Given the description of an element on the screen output the (x, y) to click on. 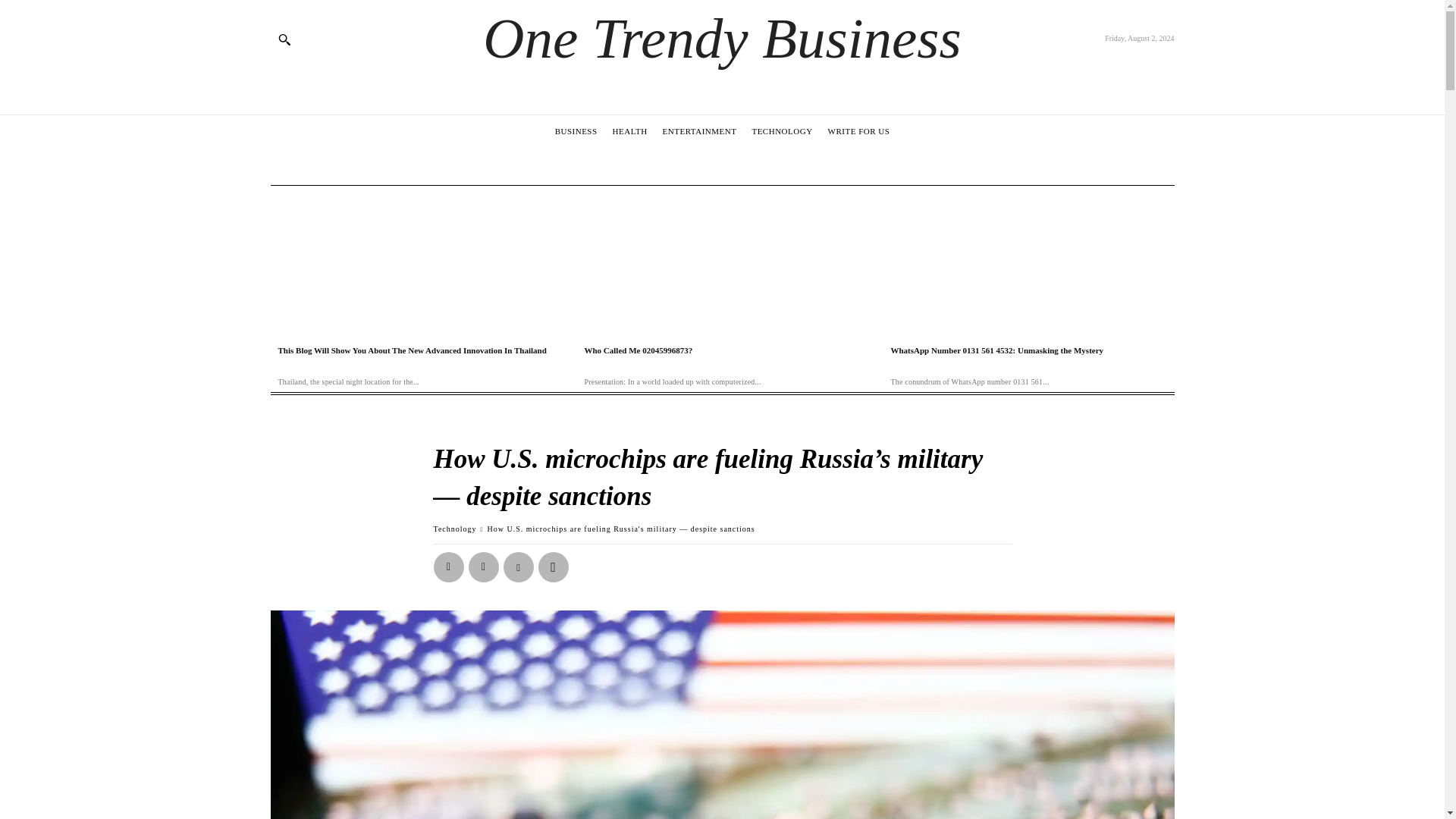
View all posts in Technology (455, 528)
BUSINESS (576, 131)
WhatsApp (553, 567)
Twitter (483, 567)
Facebook (448, 567)
TECHNOLOGY (781, 131)
One Trendy Business (721, 38)
Technology (455, 528)
WRITE FOR US (858, 131)
WhatsApp Number 0131 561 4532: Unmasking the Mystery (1027, 261)
Who Called Me 02045996873? (638, 349)
Who Called Me 02045996873? (721, 261)
